Given the description of an element on the screen output the (x, y) to click on. 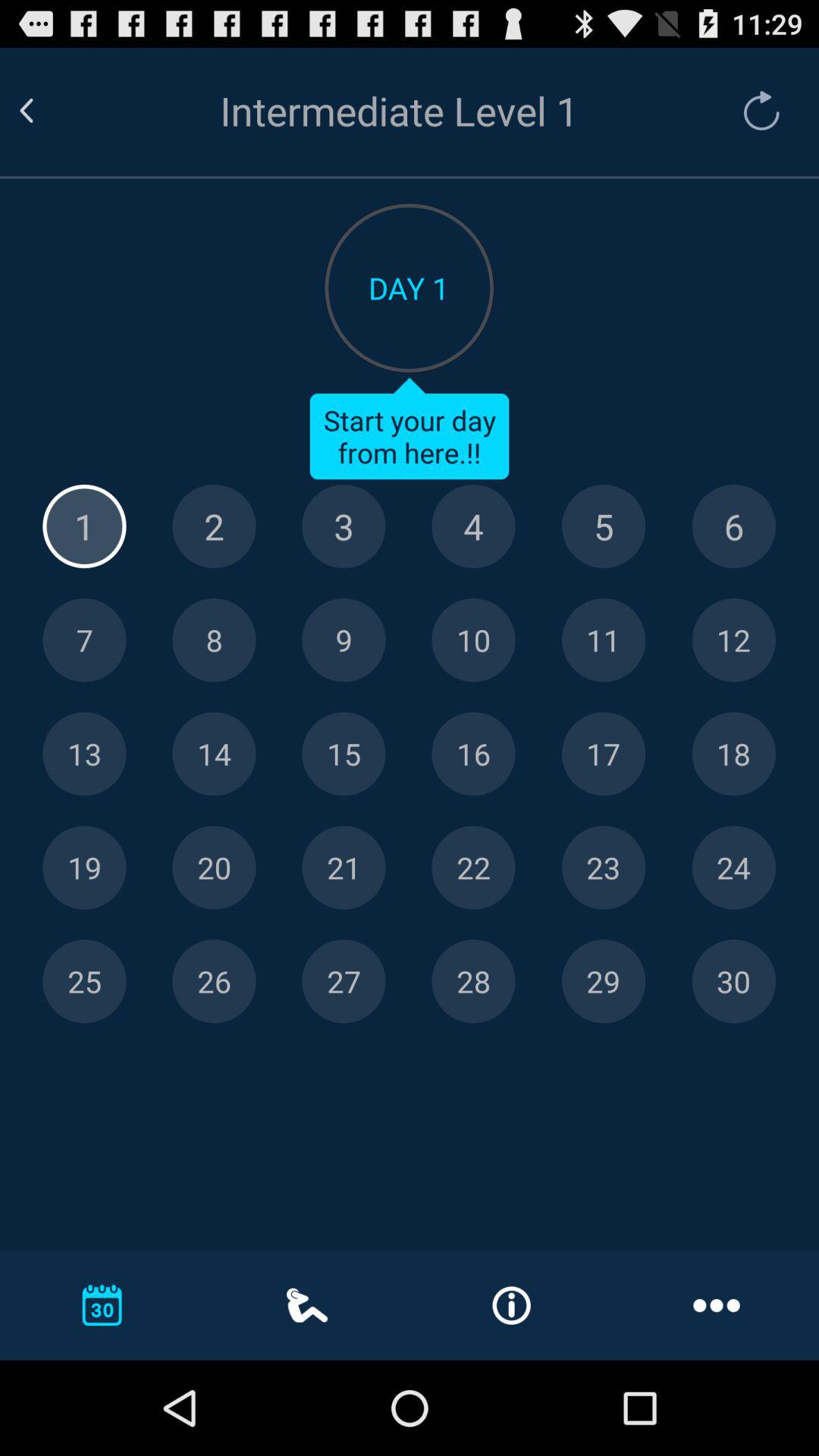
open day (603, 753)
